Given the description of an element on the screen output the (x, y) to click on. 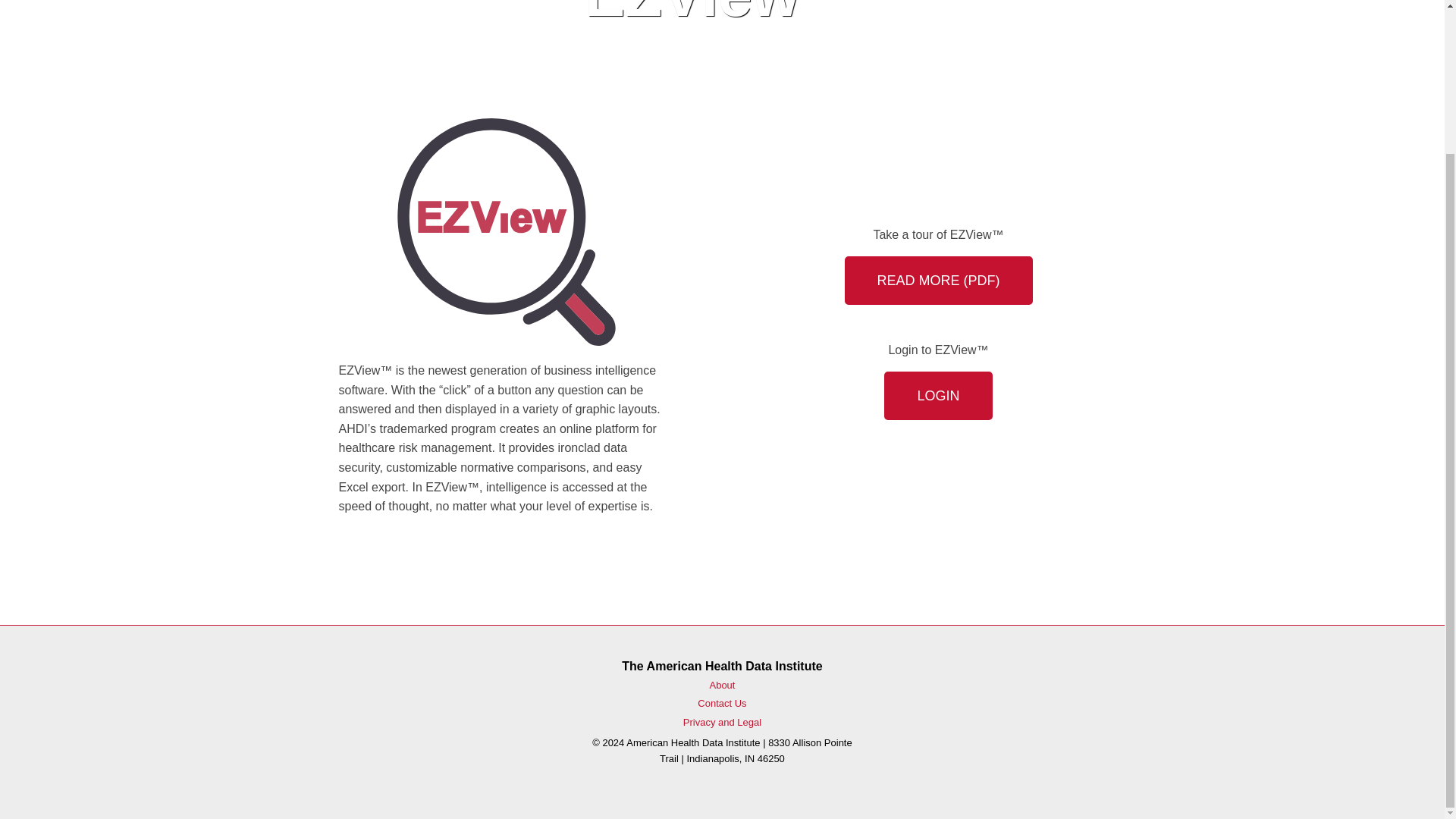
Privacy and Legal (721, 722)
About (722, 685)
Contact Us (721, 703)
LOGIN (937, 395)
